Given the description of an element on the screen output the (x, y) to click on. 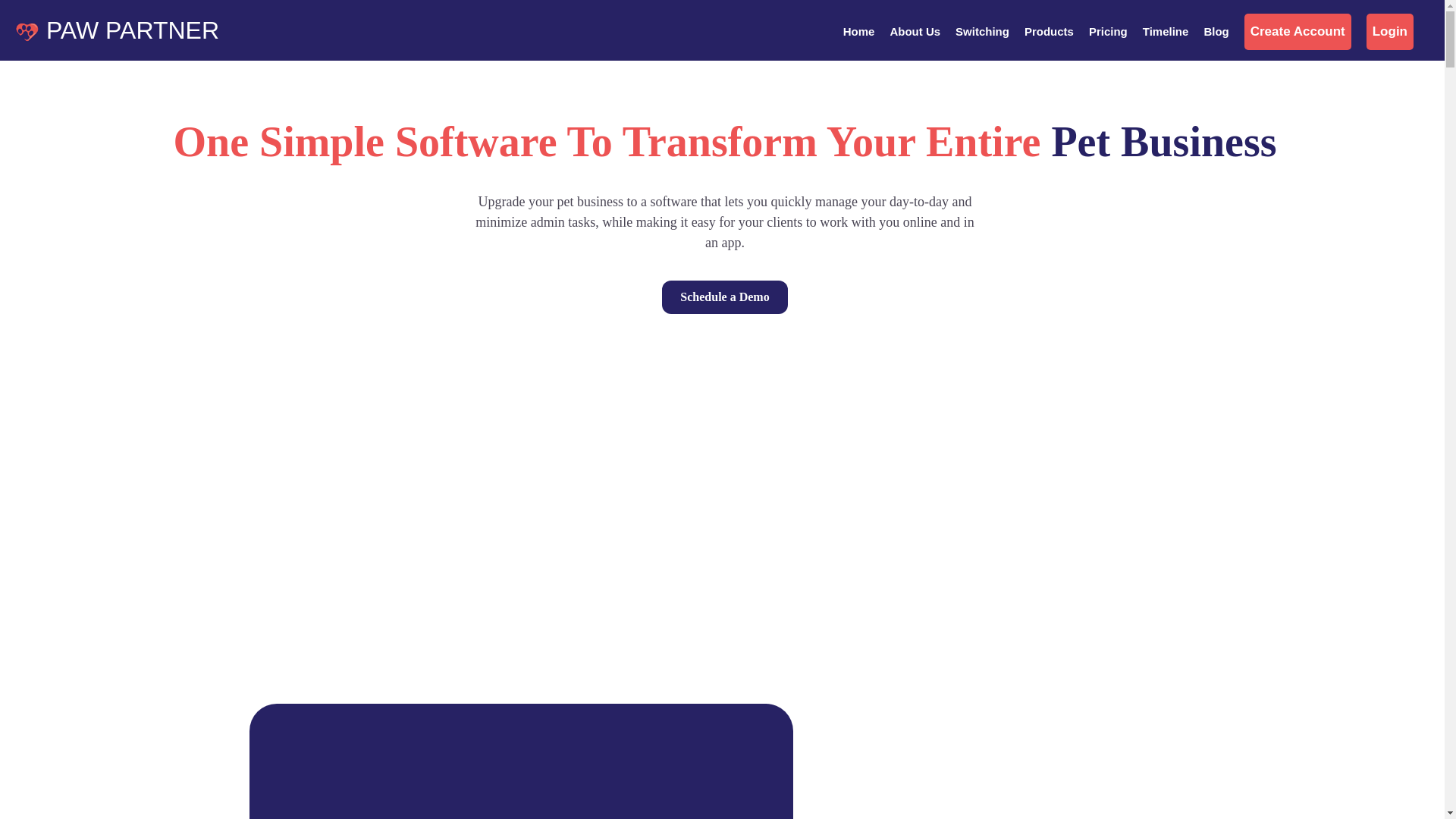
Blog (1223, 31)
Pricing (1115, 31)
Create Account (1305, 31)
Create Account (1297, 31)
Products (1057, 31)
Login (1390, 31)
About Us (922, 31)
Login (1397, 31)
Home (866, 31)
Paw Partner (26, 32)
Schedule a Demo (724, 296)
Switching (990, 31)
Timeline (1173, 31)
